Given the description of an element on the screen output the (x, y) to click on. 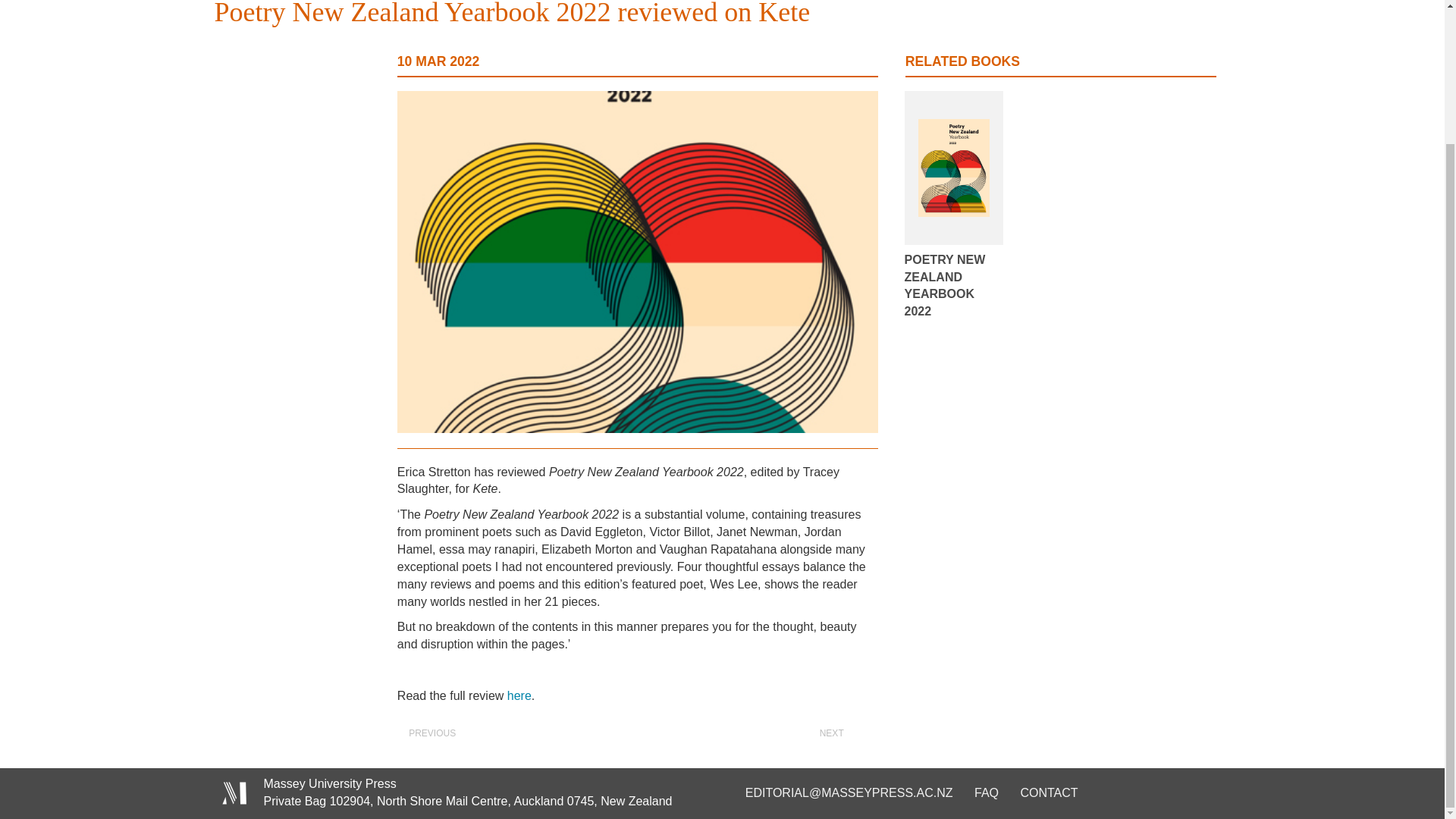
CONTACT (1048, 792)
FAQ (986, 792)
NEXT (839, 734)
PREVIOUS (424, 734)
here (518, 695)
